Given the description of an element on the screen output the (x, y) to click on. 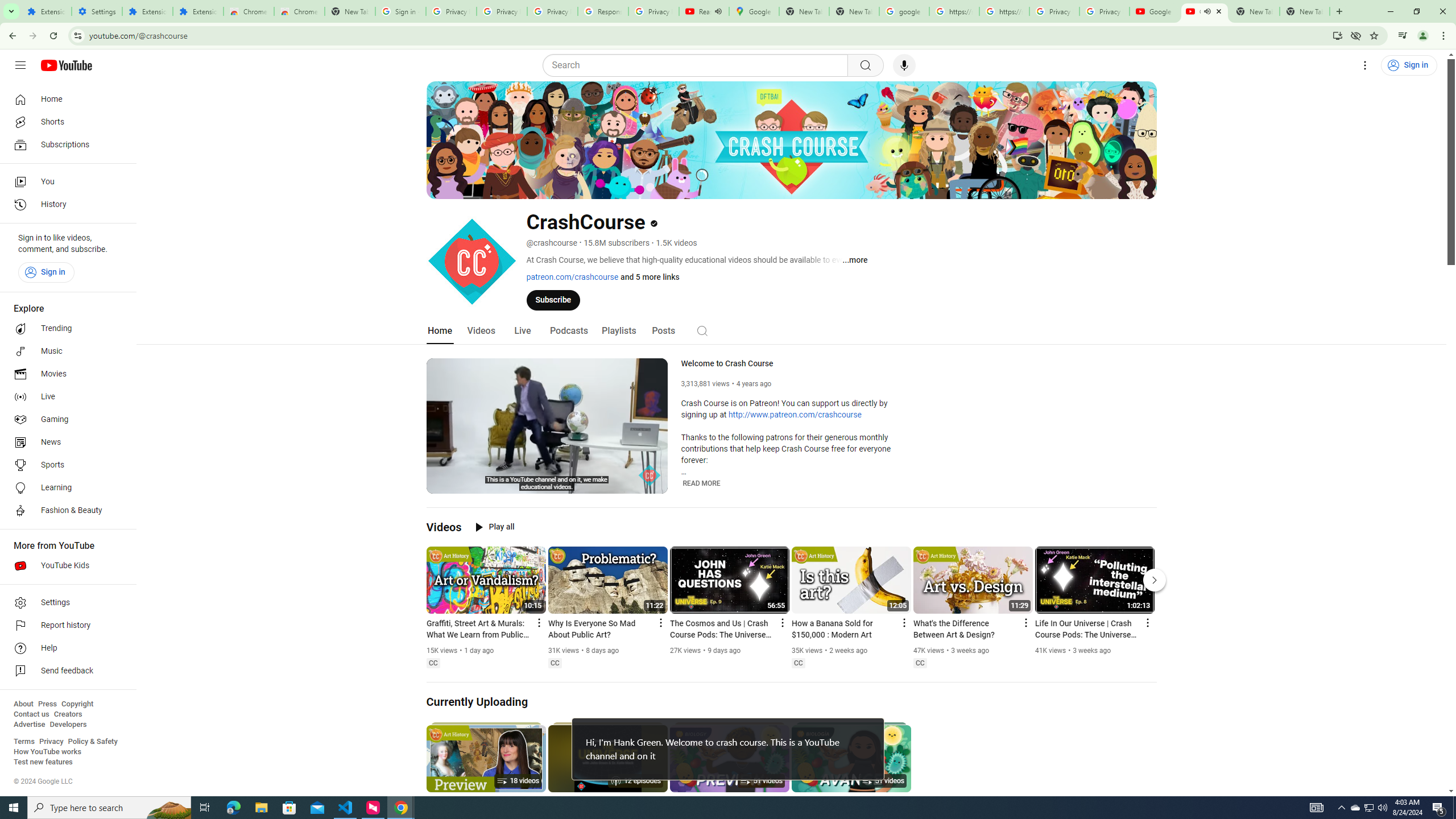
Pause (k) (443, 483)
Press (46, 703)
YouTube Home (66, 65)
Posts (663, 330)
Policy & Safety (91, 741)
http://www.patreon.com/crashcourse (794, 414)
Sports (64, 464)
